Given the description of an element on the screen output the (x, y) to click on. 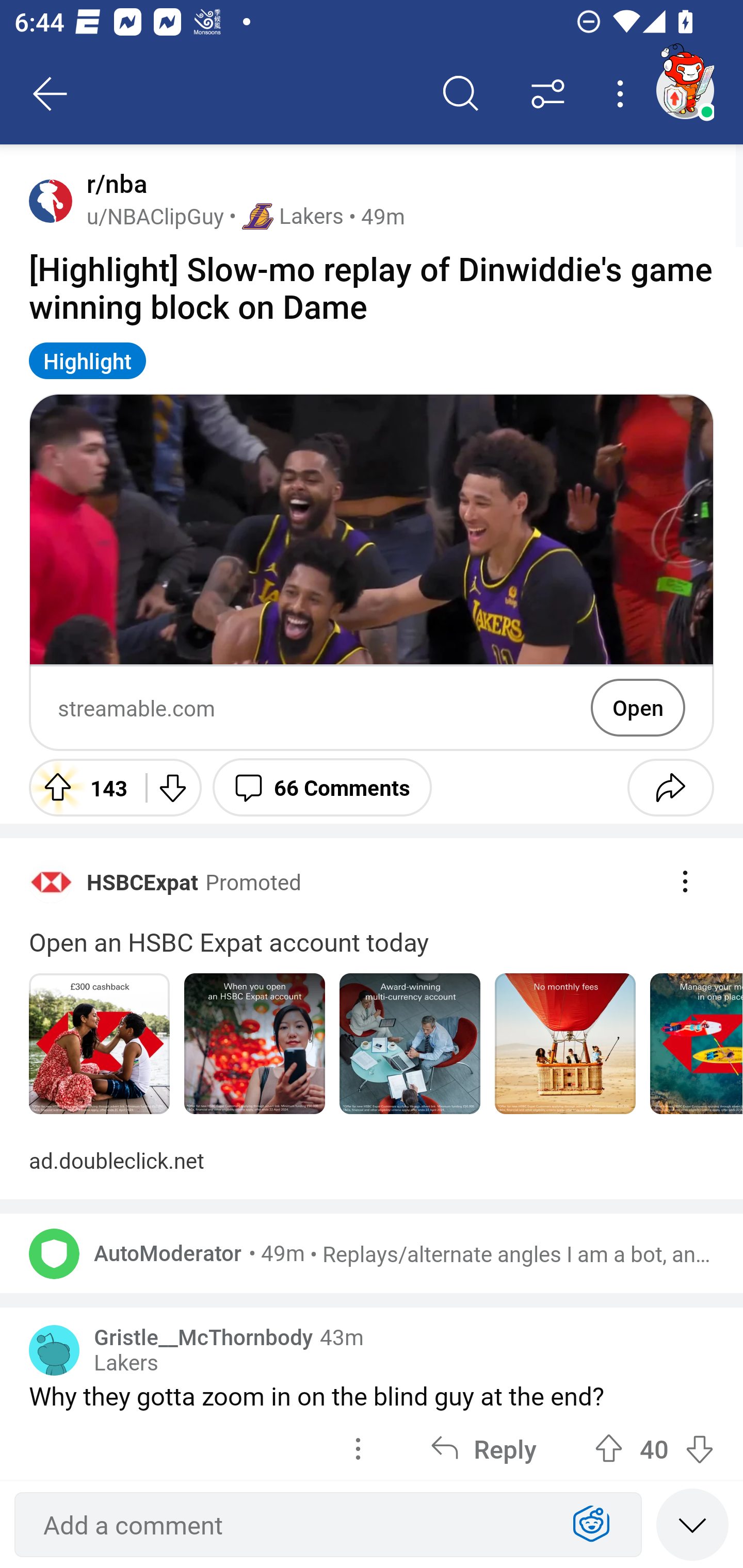
Back (50, 93)
TestAppium002 account (685, 90)
Search comments (460, 93)
Sort comments (547, 93)
More options (623, 93)
r/nba (113, 183)
Avatar (50, 200)
Highlight (87, 360)
Preview Image streamable.com Open (371, 572)
Open (637, 707)
Upvote 143 (79, 787)
Downvote (171, 787)
66 Comments (321, 787)
Share (670, 787)
Image 1 of 5.  (98, 1043)
Image 2 of 5.  (254, 1043)
Image 3 of 5.  (409, 1043)
Image 4 of 5.  (565, 1043)
Image 5 of 5.  (696, 1043)
Avatar (53, 1253)
Avatar (53, 1349)
Lakers (125, 1362)
options (358, 1446)
Reply (483, 1446)
Upvote 40 40 votes Downvote (654, 1446)
Speed read (692, 1524)
Add a comment (291, 1524)
Show Expressions (590, 1524)
